Given the description of an element on the screen output the (x, y) to click on. 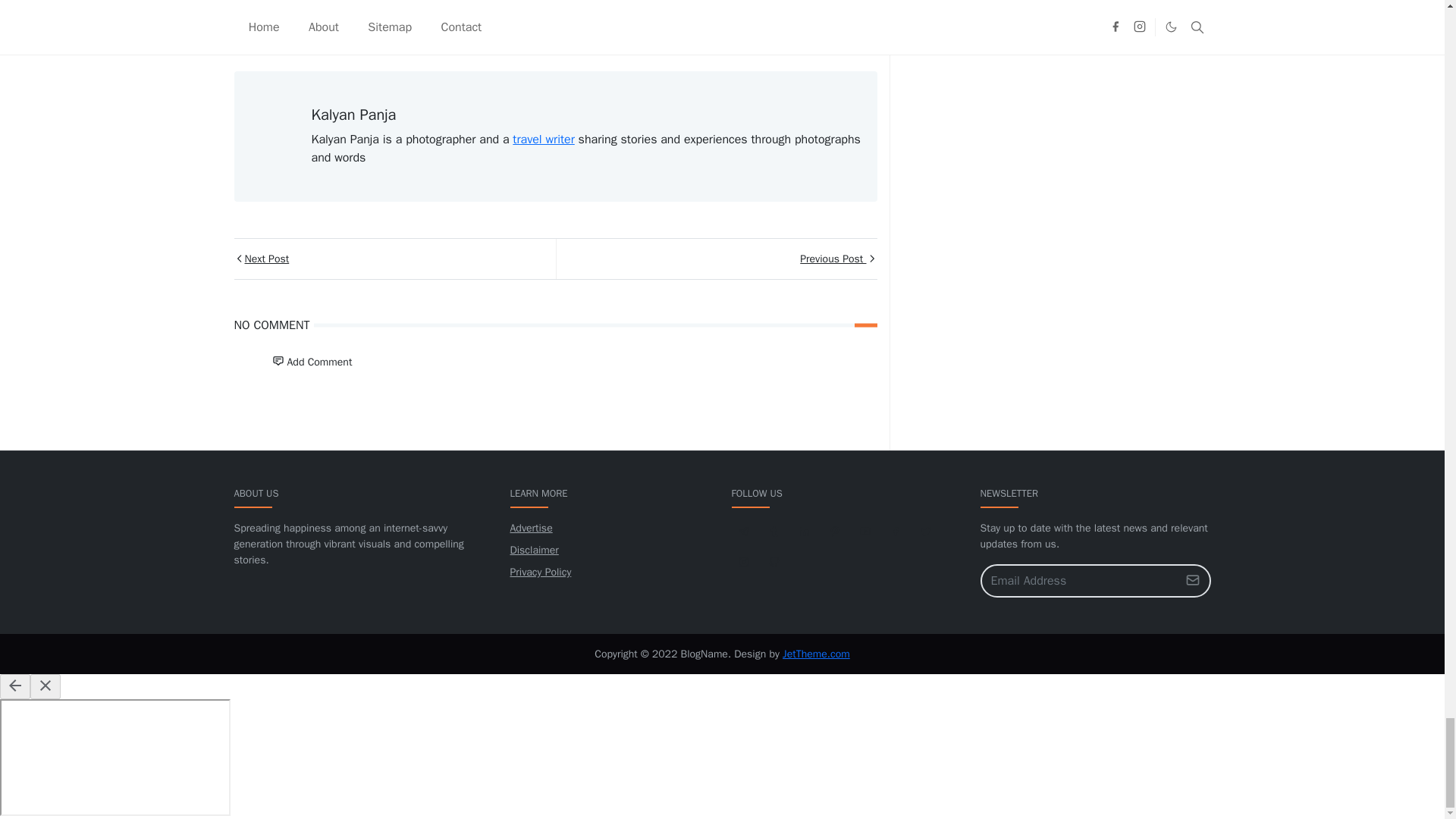
travel writer (542, 139)
Add Comment (311, 361)
Previous Post (715, 259)
Next Post (393, 259)
